Given the description of an element on the screen output the (x, y) to click on. 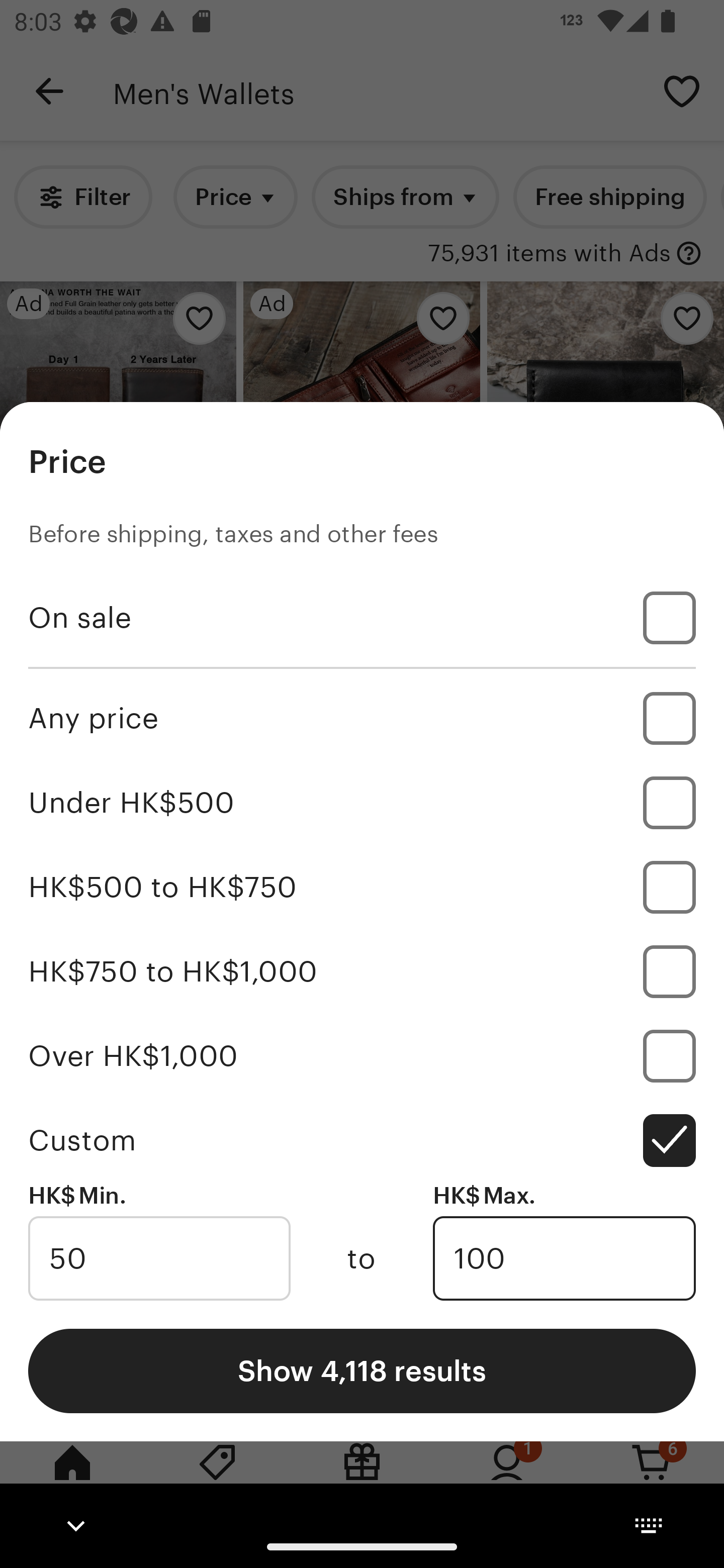
On sale (362, 617)
Any price (362, 717)
Under HK$500 (362, 802)
HK$500 to HK$750 (362, 887)
HK$750 to HK$1,000 (362, 970)
Over HK$1,000 (362, 1054)
Custom (362, 1139)
50 (159, 1257)
100 (563, 1257)
Show 4,118 results (361, 1370)
